Given the description of an element on the screen output the (x, y) to click on. 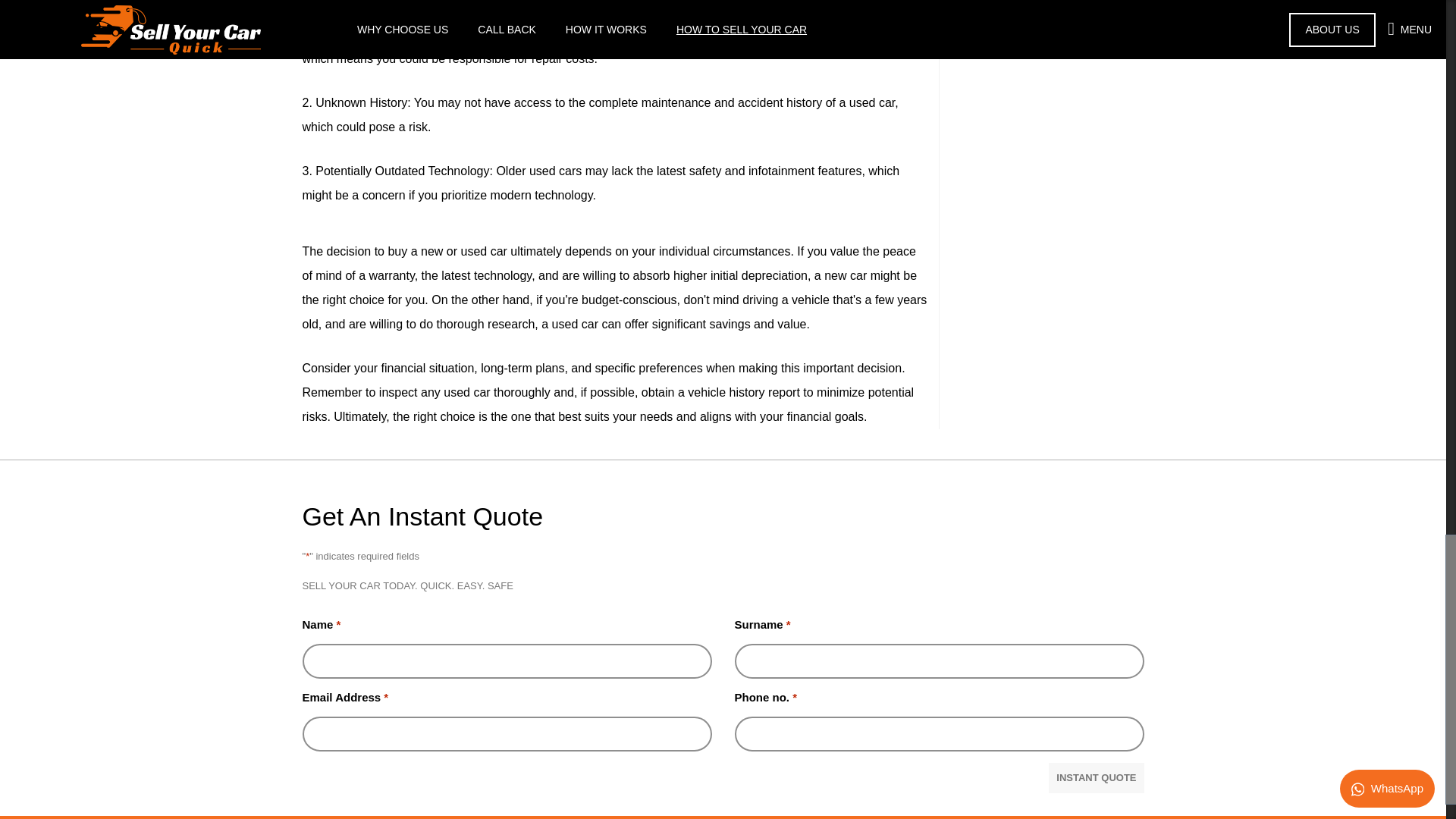
INSTANT QUOTE (1095, 777)
